Given the description of an element on the screen output the (x, y) to click on. 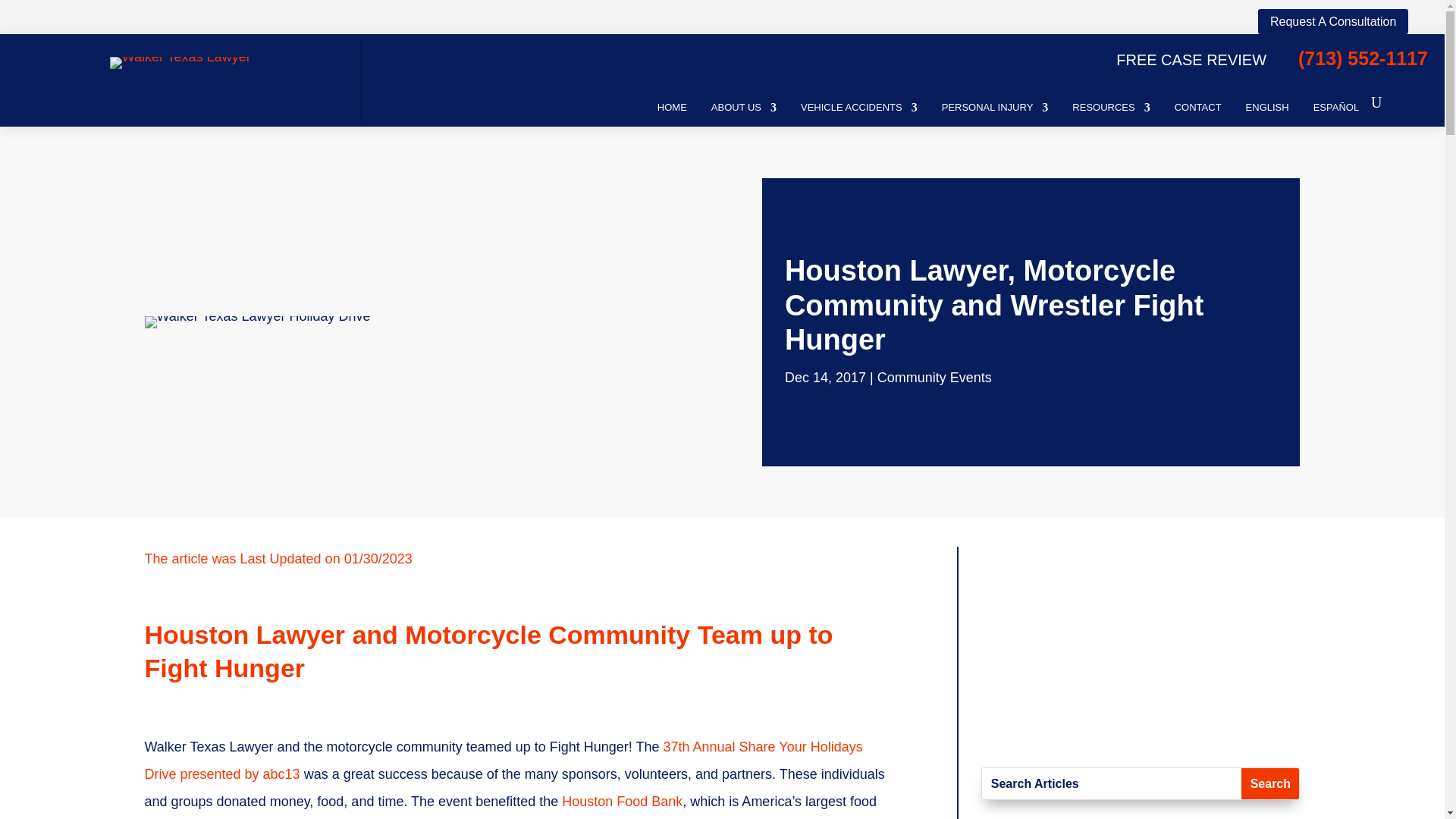
English (1267, 102)
ABOUT US (743, 102)
Request A Consultation (1332, 21)
HOME (672, 102)
Walker Texas Lawyer Logo (180, 56)
VEHICLE ACCIDENTS (858, 102)
Search (1269, 783)
CONTACT (1197, 102)
Holiday-drive-Walker (256, 315)
ENGLISH (1267, 102)
Search (1269, 783)
RESOURCES (1110, 102)
PERSONAL INJURY (995, 102)
